Given the description of an element on the screen output the (x, y) to click on. 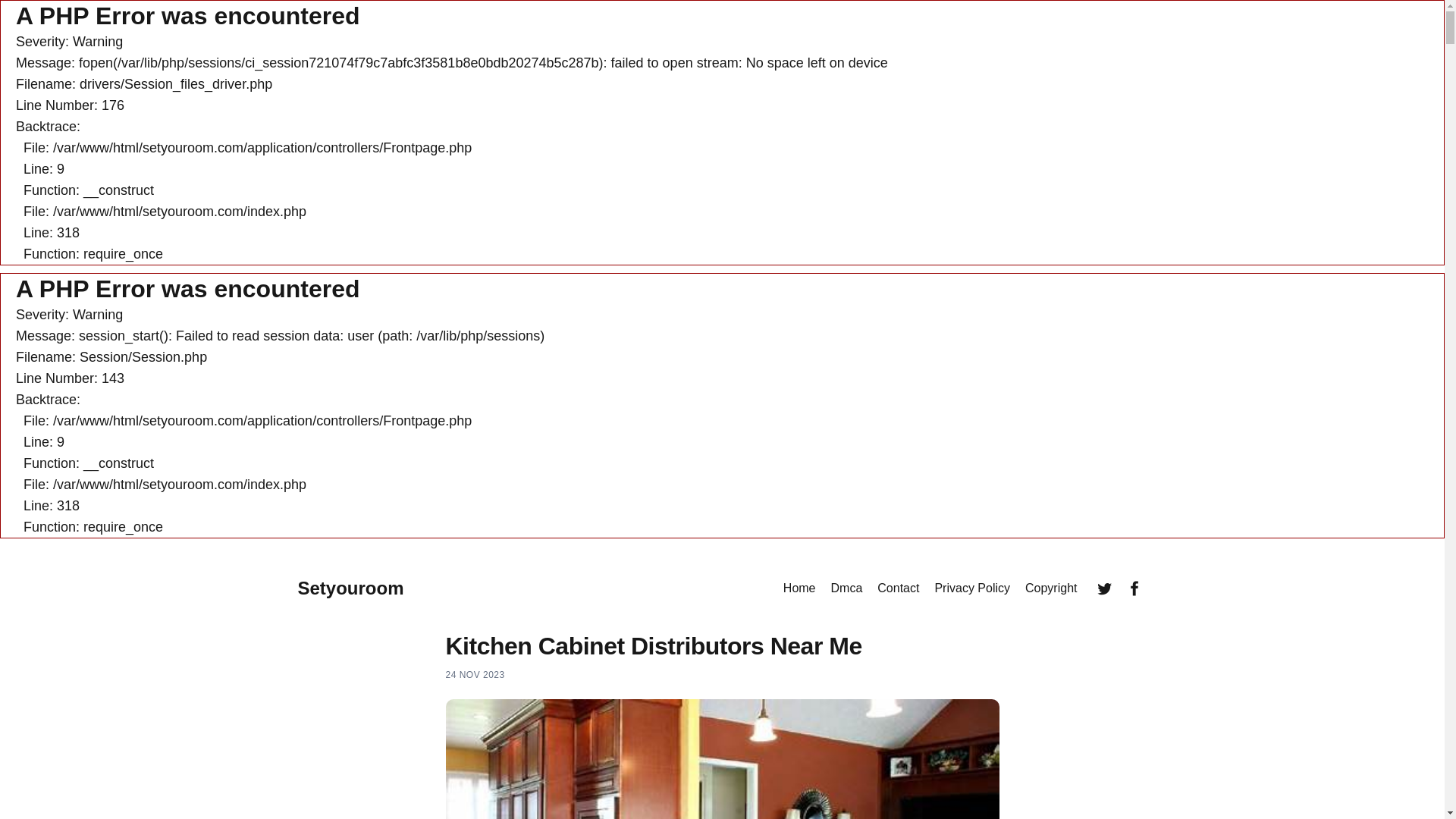
Facebook (1134, 588)
Contact (897, 588)
Dmca (847, 588)
Setyouroom (350, 588)
Home (799, 588)
Copyright (1051, 588)
Privacy Policy (972, 588)
Twitter (1104, 588)
